Given the description of an element on the screen output the (x, y) to click on. 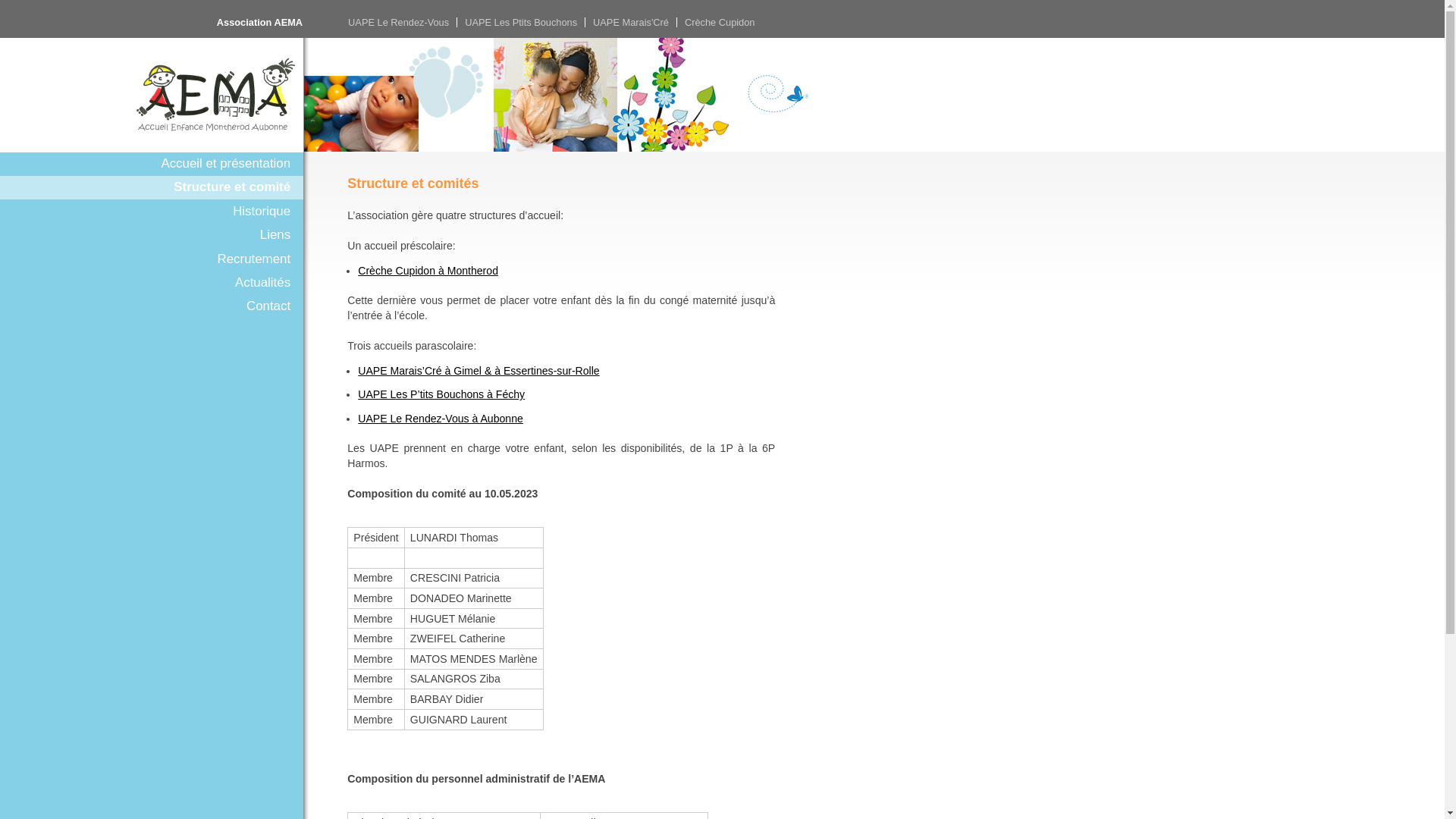
Association AEMA Element type: text (154, 22)
Liens Element type: text (151, 234)
Historique Element type: text (151, 211)
UAPE Les Ptits Bouchons Element type: text (520, 22)
UAPE Le Rendez-Vous Element type: text (398, 22)
Contact Element type: text (151, 305)
Recrutement Element type: text (151, 258)
